Given the description of an element on the screen output the (x, y) to click on. 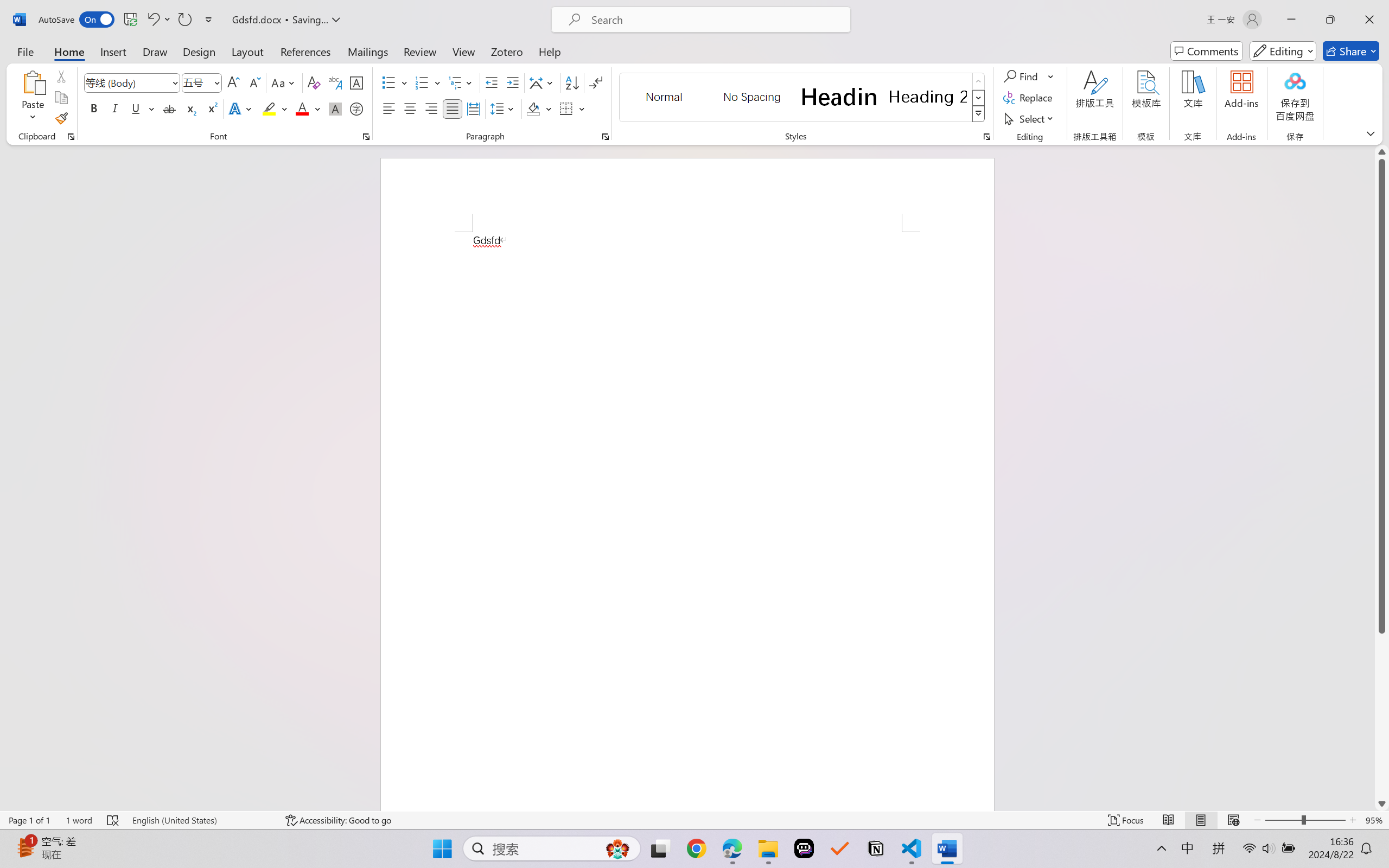
Justify (452, 108)
Select (1030, 118)
Heading 1 (839, 96)
Character Border (356, 82)
